Given the description of an element on the screen output the (x, y) to click on. 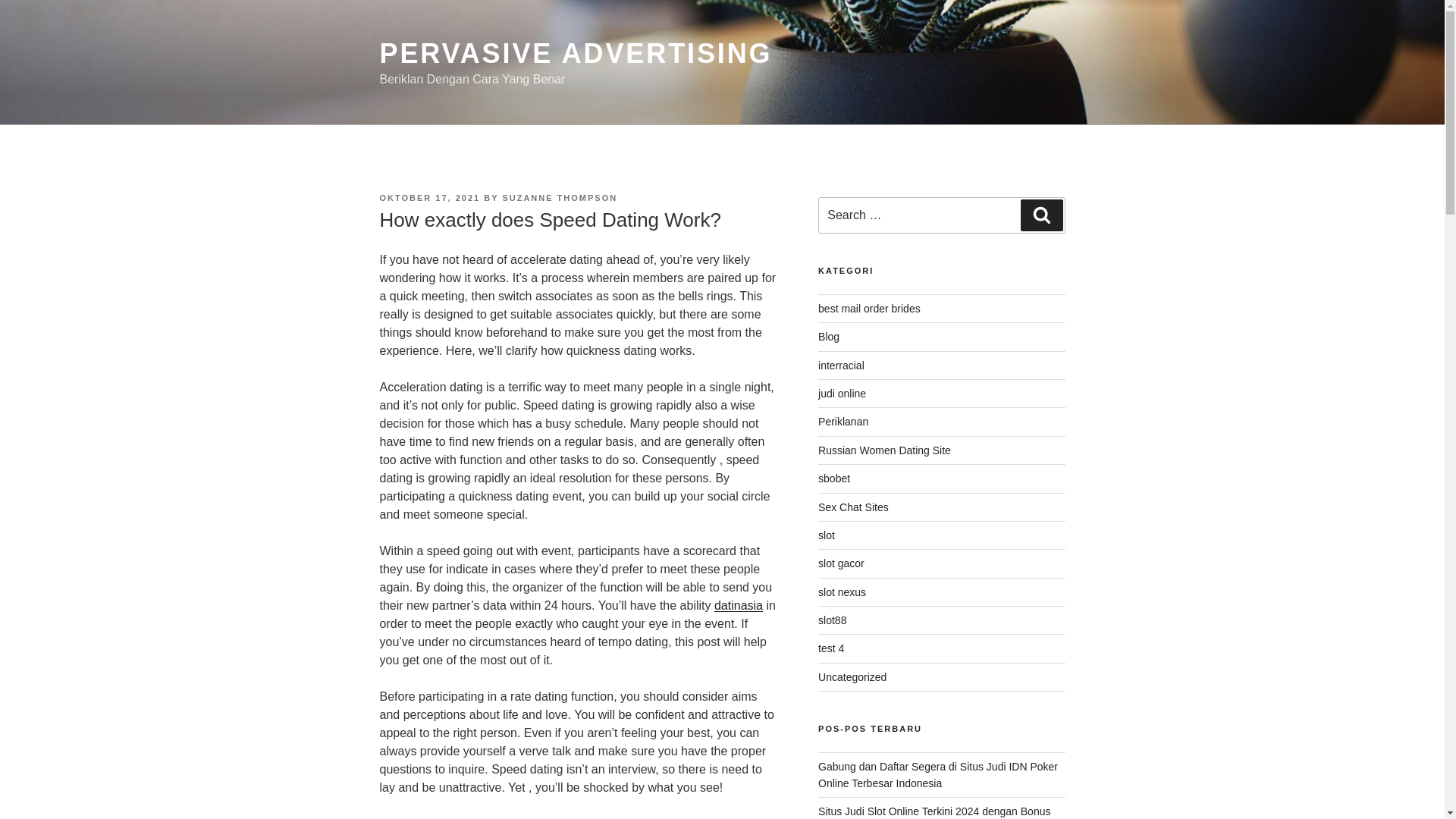
Russian Women Dating Site (884, 450)
Search (1041, 214)
Uncategorized (852, 676)
Blog (829, 336)
OKTOBER 17, 2021 (429, 197)
Periklanan (842, 421)
best mail order brides (869, 308)
judi online (842, 393)
interracial (841, 365)
slot nexus (842, 592)
